Given the description of an element on the screen output the (x, y) to click on. 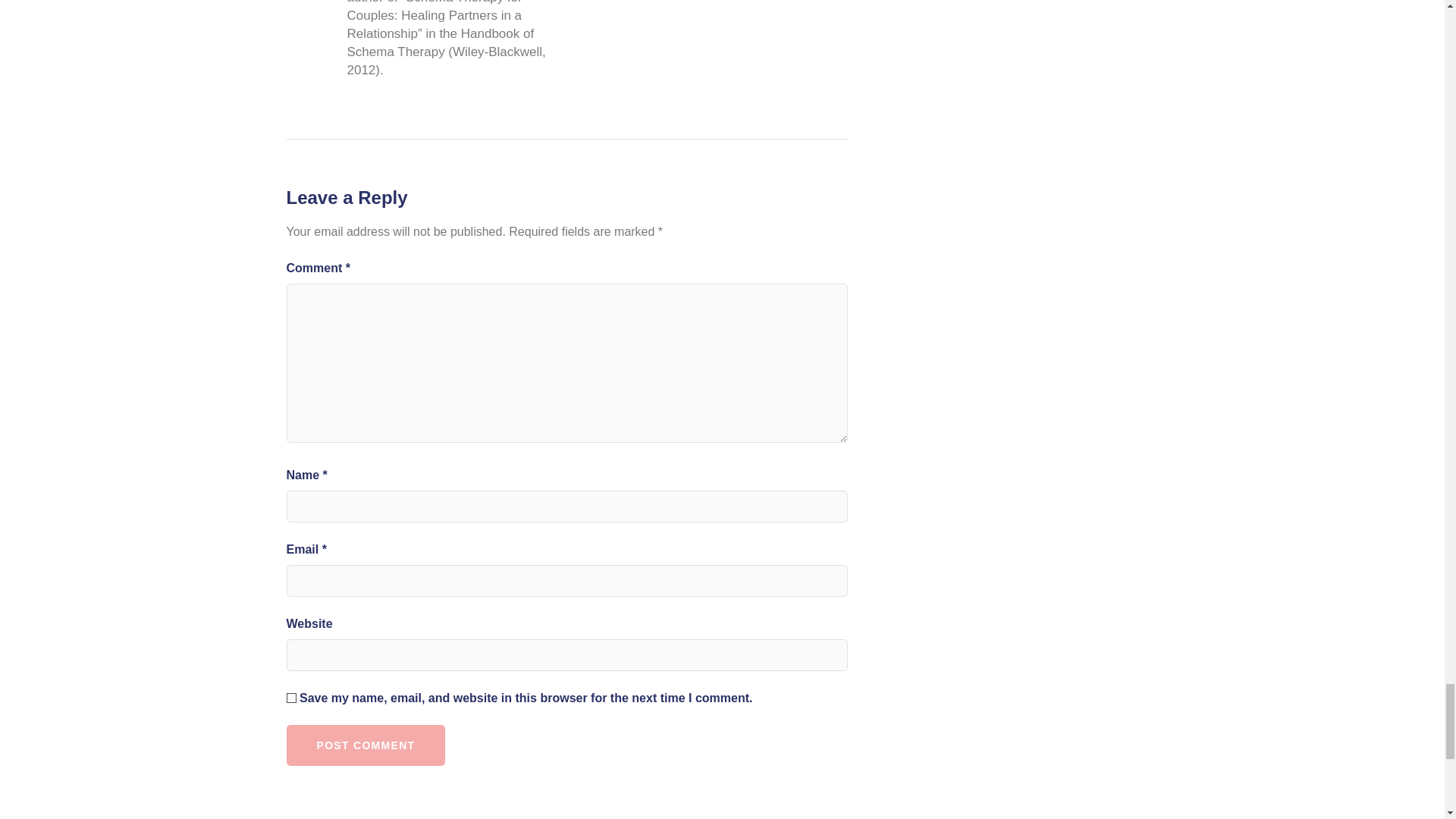
Post Comment (365, 744)
